Given the description of an element on the screen output the (x, y) to click on. 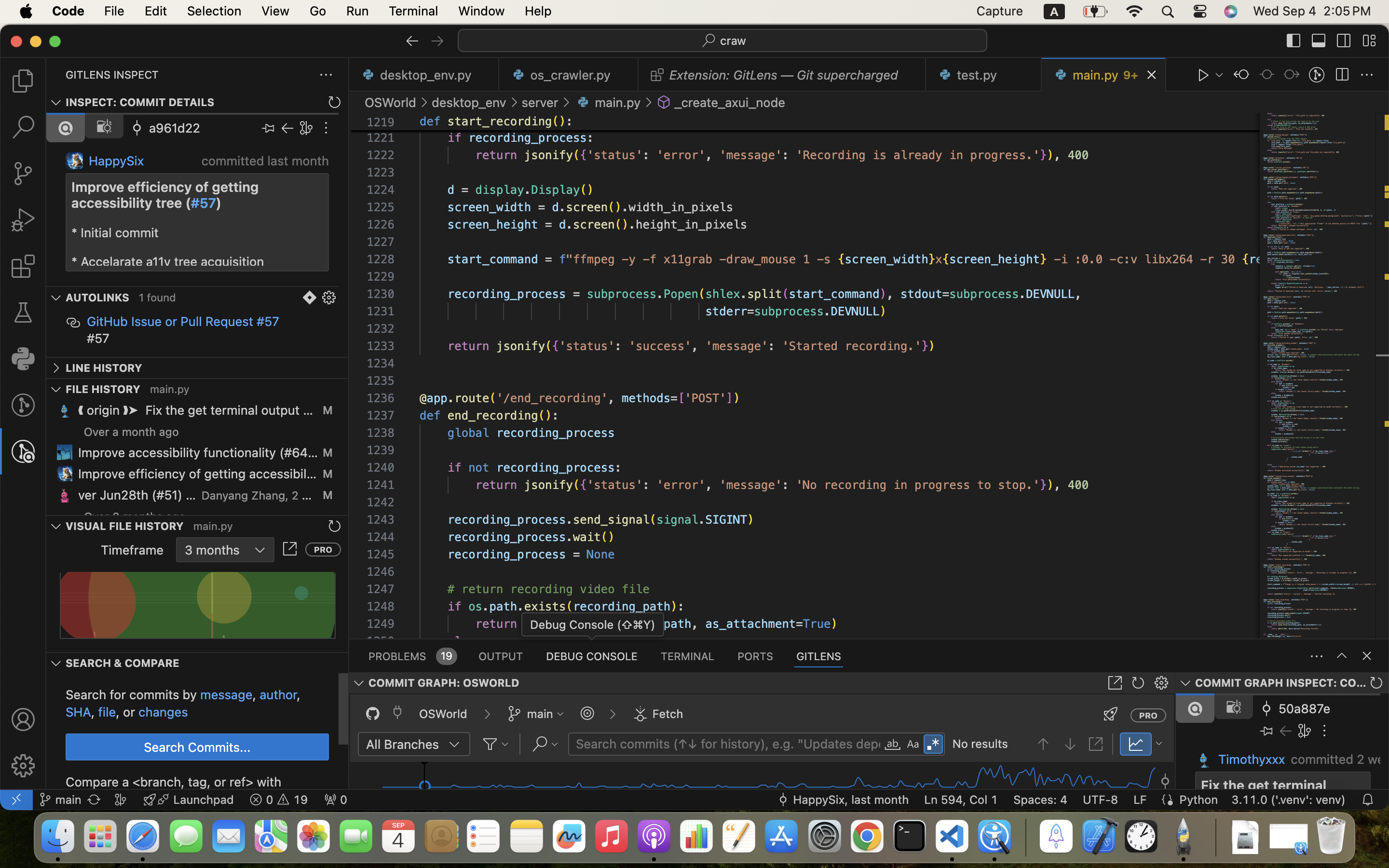
 Element type: AXGroup (23, 451)
 Element type: AXGroup (23, 266)
1 GITLENS Element type: AXRadioButton (819, 655)
 Element type: AXStaticText (287, 127)
 Element type: AXButton (1241, 74)
